Given the description of an element on the screen output the (x, y) to click on. 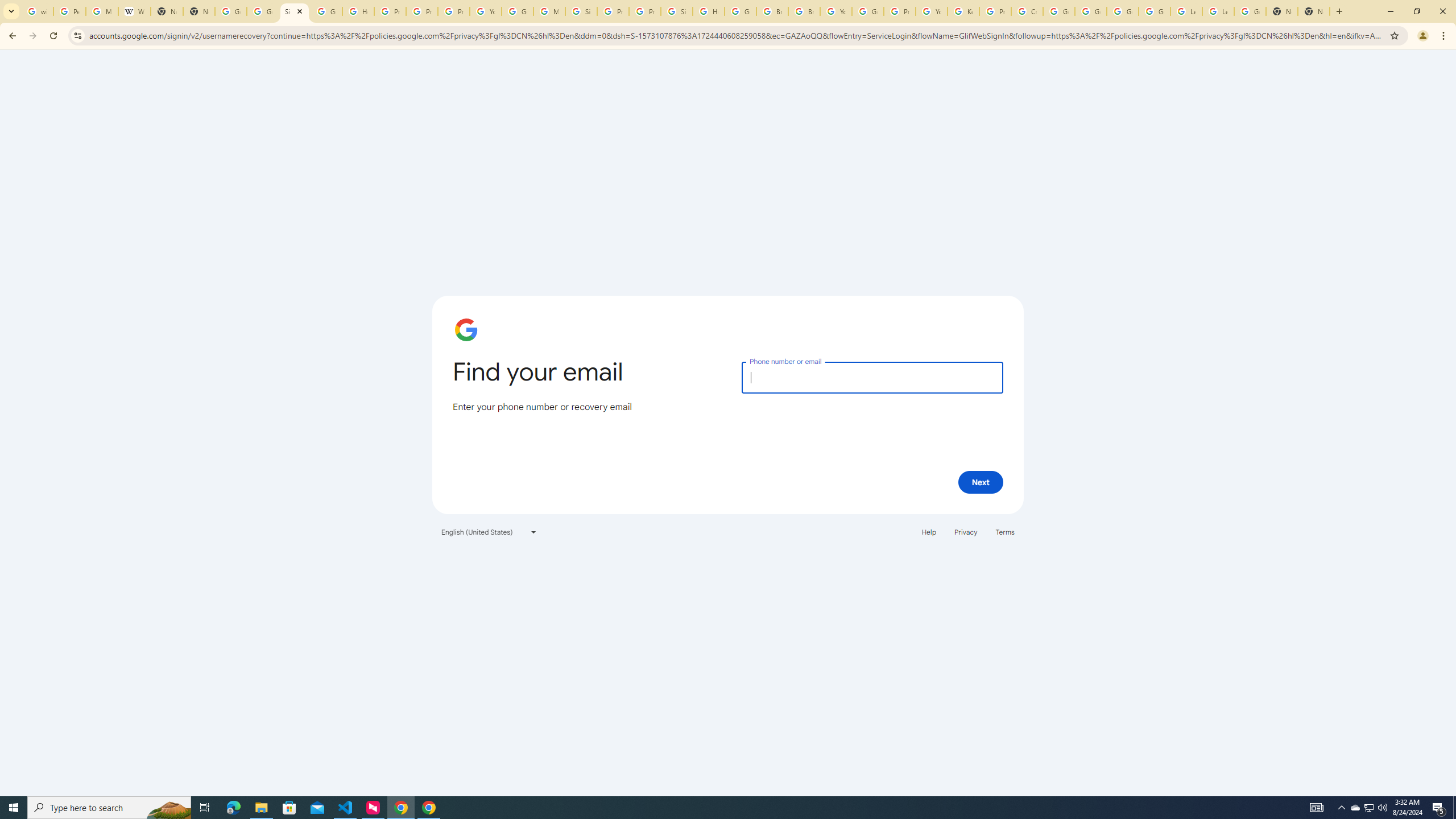
Google Account Help (517, 11)
Sign in - Google Accounts (676, 11)
YouTube (485, 11)
Google Account Help (1154, 11)
Google Drive: Sign-in (262, 11)
